Given the description of an element on the screen output the (x, y) to click on. 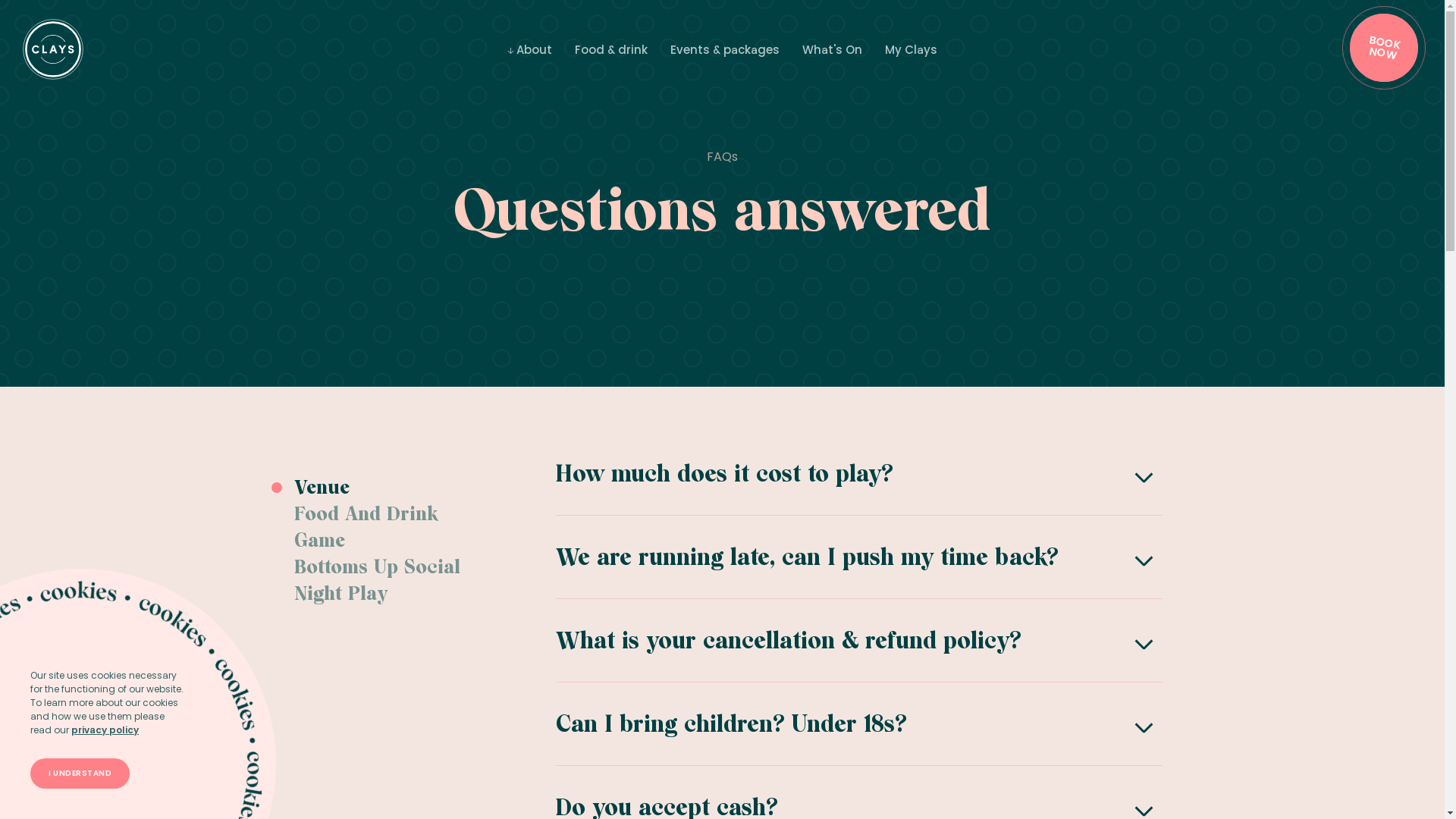
About Element type: text (529, 49)
What's On Element type: text (831, 49)
privacy policy Element type: text (104, 729)
My Clays Element type: text (910, 49)
I UNDERSTAND Element type: text (79, 773)
Events & packages Element type: text (724, 49)
Food & drink Element type: text (610, 49)
